Given the description of an element on the screen output the (x, y) to click on. 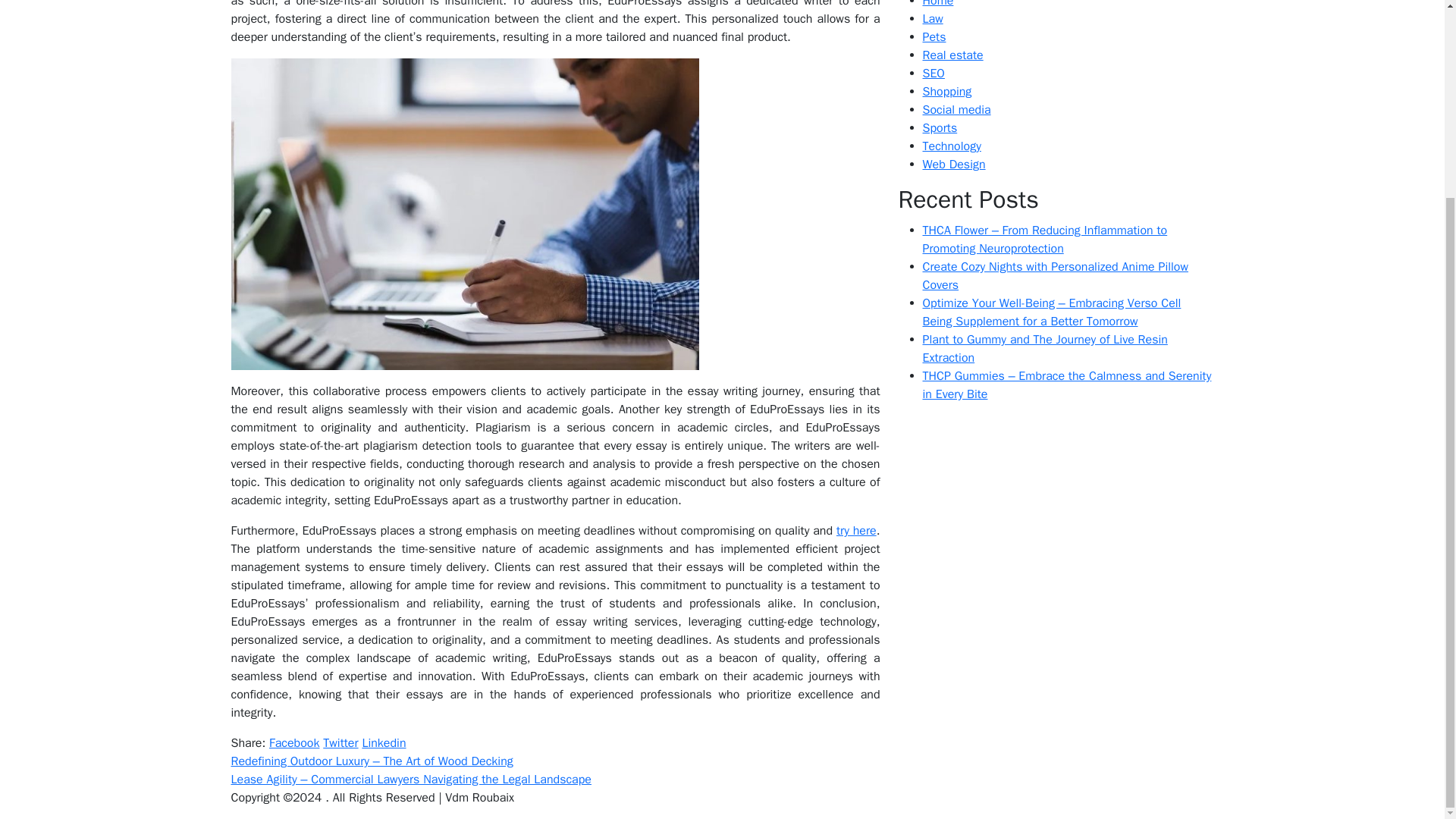
Social media (955, 109)
Twitter (340, 743)
Home (937, 4)
Plant to Gummy and The Journey of Live Resin Extraction (1044, 348)
try here (855, 530)
Pets (932, 37)
Real estate (951, 55)
Facebook (293, 743)
Create Cozy Nights with Personalized Anime Pillow Covers (1054, 275)
Web Design (953, 164)
Linkedin (383, 743)
Shopping (946, 91)
Technology (950, 145)
Law (931, 18)
SEO (932, 73)
